Given the description of an element on the screen output the (x, y) to click on. 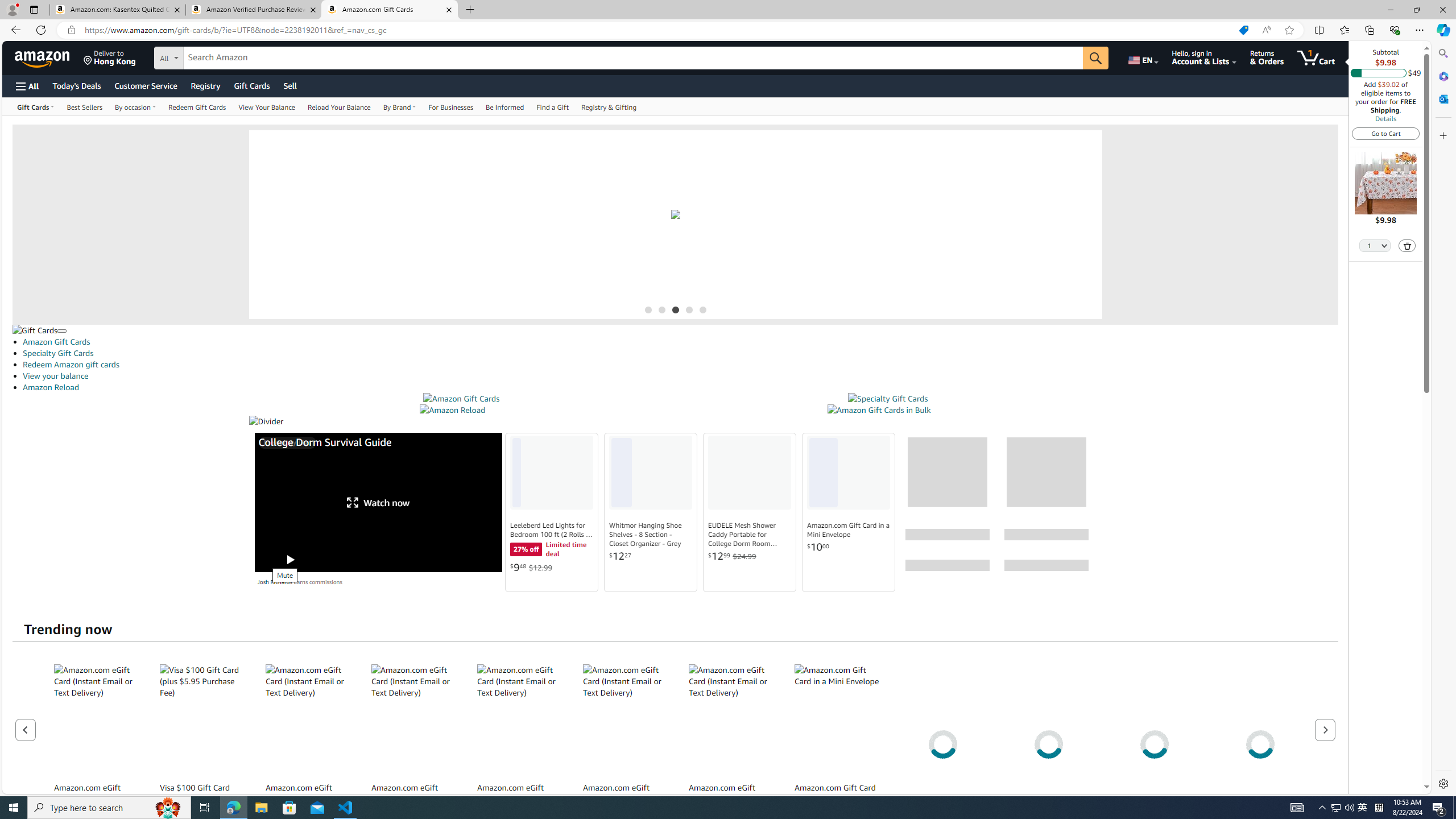
Amazon Gift Cards (460, 398)
Play (289, 559)
Side bar (1443, 418)
Delete (1407, 245)
Amazon Verified Purchase Reviews - Amazon Customer Service (253, 9)
Previous page (26, 729)
Search Amazon (633, 57)
Sell (290, 85)
Customer Service (145, 85)
Tap Watch now to see broadcast in immersive view (378, 502)
